Given the description of an element on the screen output the (x, y) to click on. 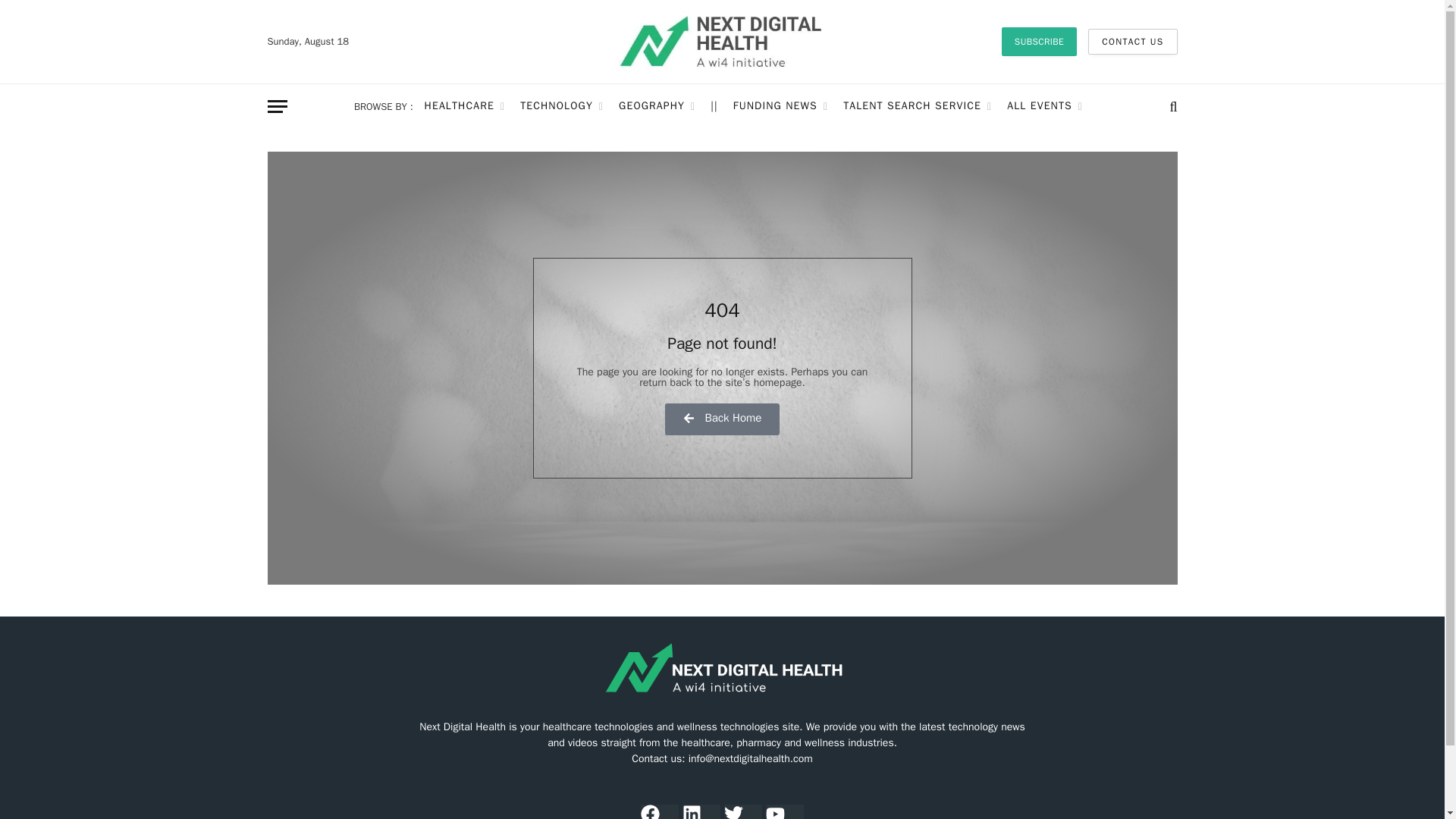
Next Digital Health (722, 41)
CONTACT US (1131, 41)
HEALTHCARE (464, 106)
SUBSCRIBE (1039, 41)
